Given the description of an element on the screen output the (x, y) to click on. 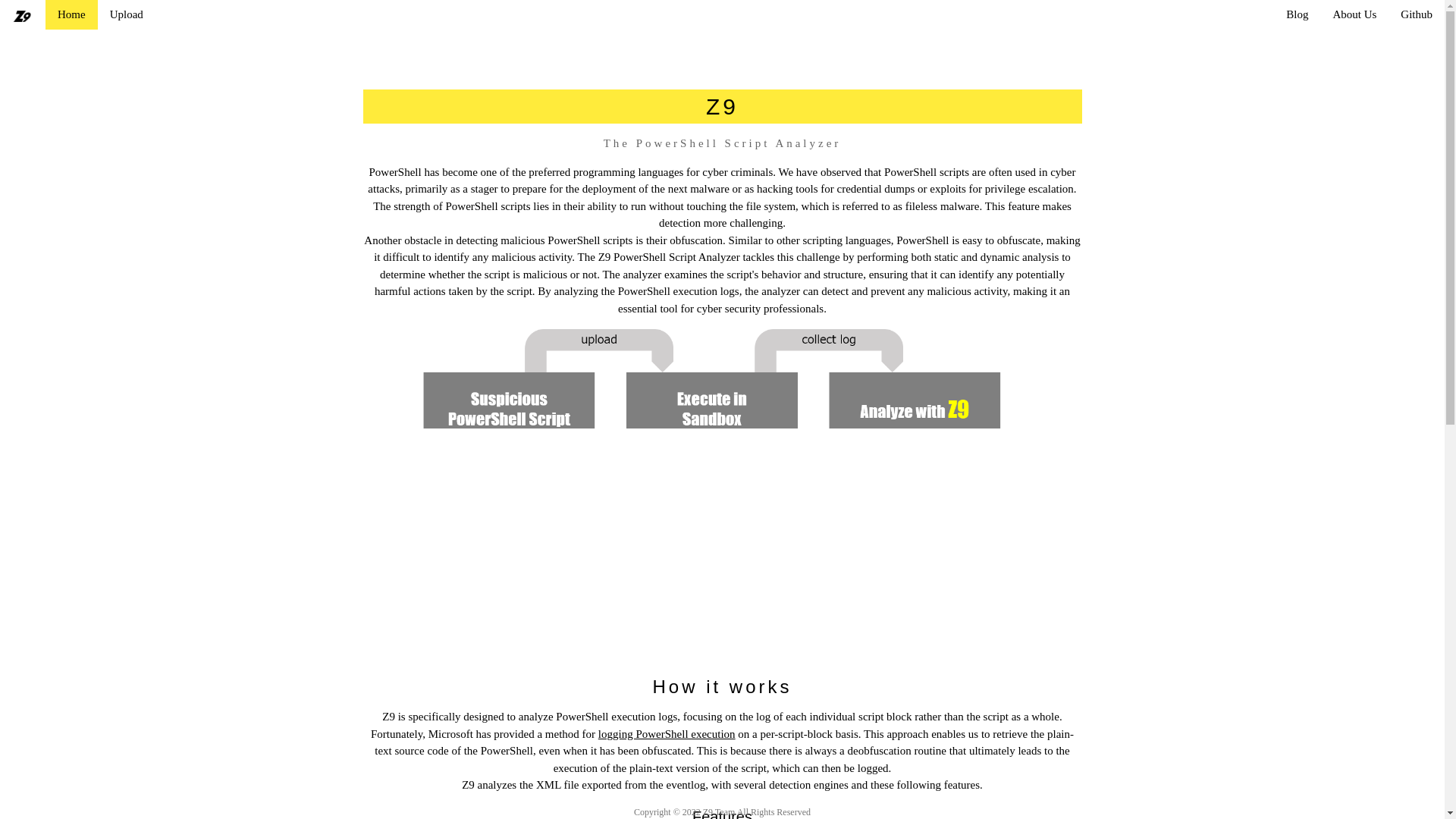
About Us (1354, 14)
logging PowerShell execution (666, 734)
Upload (126, 14)
Home (71, 14)
Blog (1297, 14)
